Given the description of an element on the screen output the (x, y) to click on. 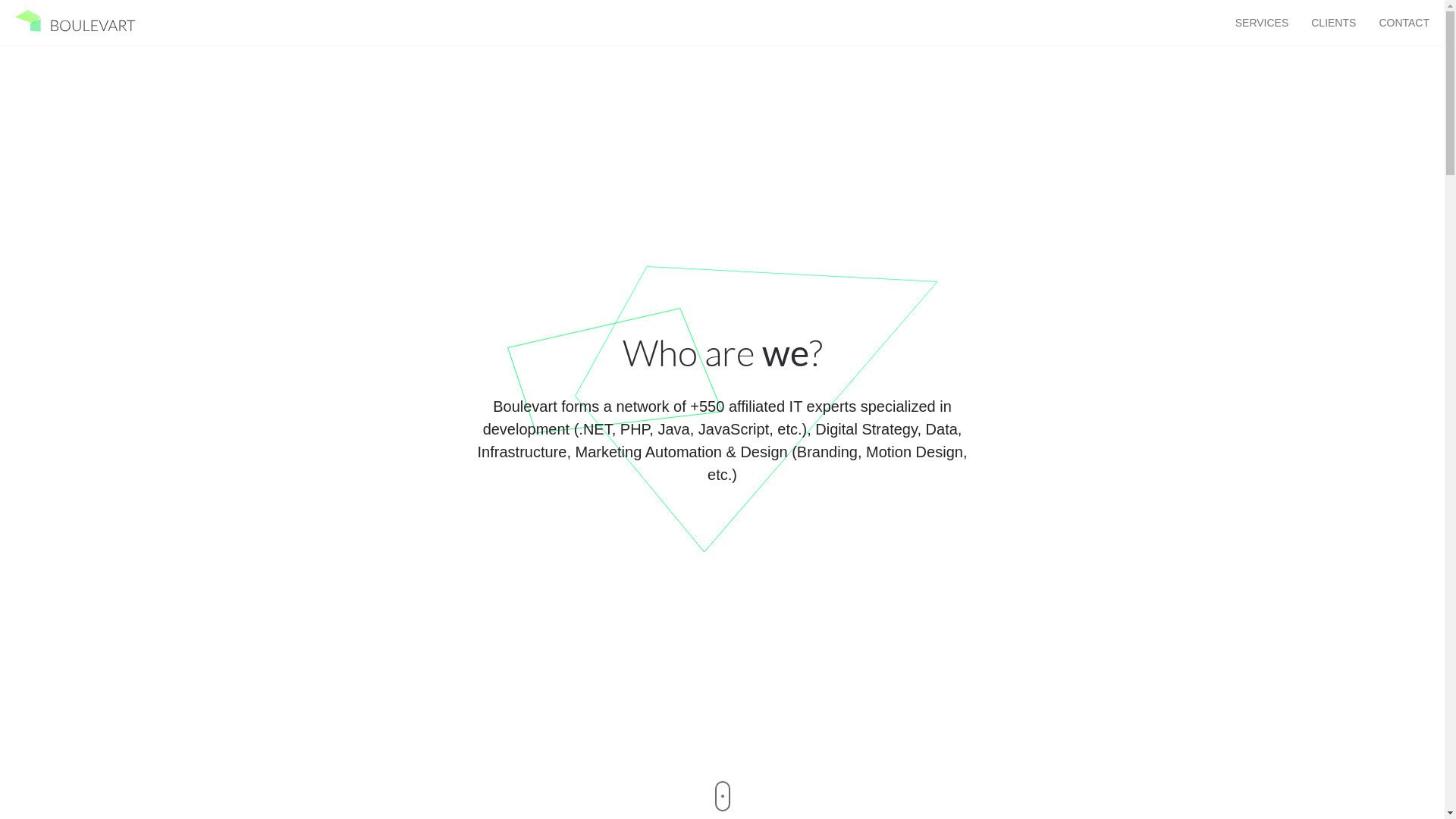
SERVICES Element type: text (1262, 22)
Boulevart Element type: hover (75, 20)
CONTACT Element type: text (1403, 22)
CLIENTS Element type: text (1333, 22)
